Given the description of an element on the screen output the (x, y) to click on. 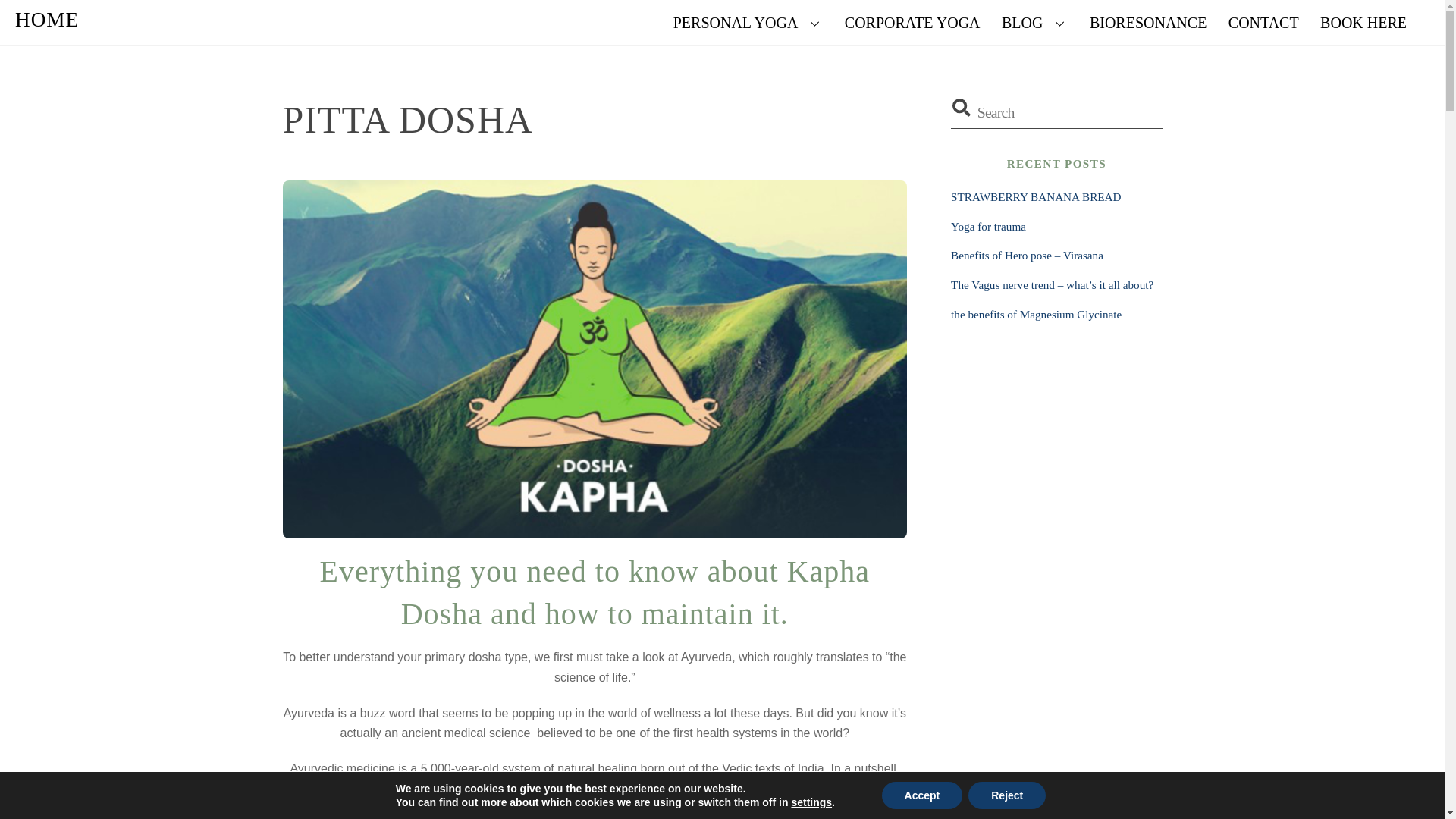
Yoga for trauma (988, 226)
HOME (46, 19)
PERSONAL YOGA (747, 22)
Vata (498, 788)
BOOK HERE (1363, 22)
Home (46, 19)
BIORESONANCE (1147, 22)
Search (1055, 112)
STRAWBERRY BANANA BREAD (1035, 196)
CONTACT (1263, 22)
Accept (922, 795)
settings (810, 802)
Pitta (529, 788)
